Given the description of an element on the screen output the (x, y) to click on. 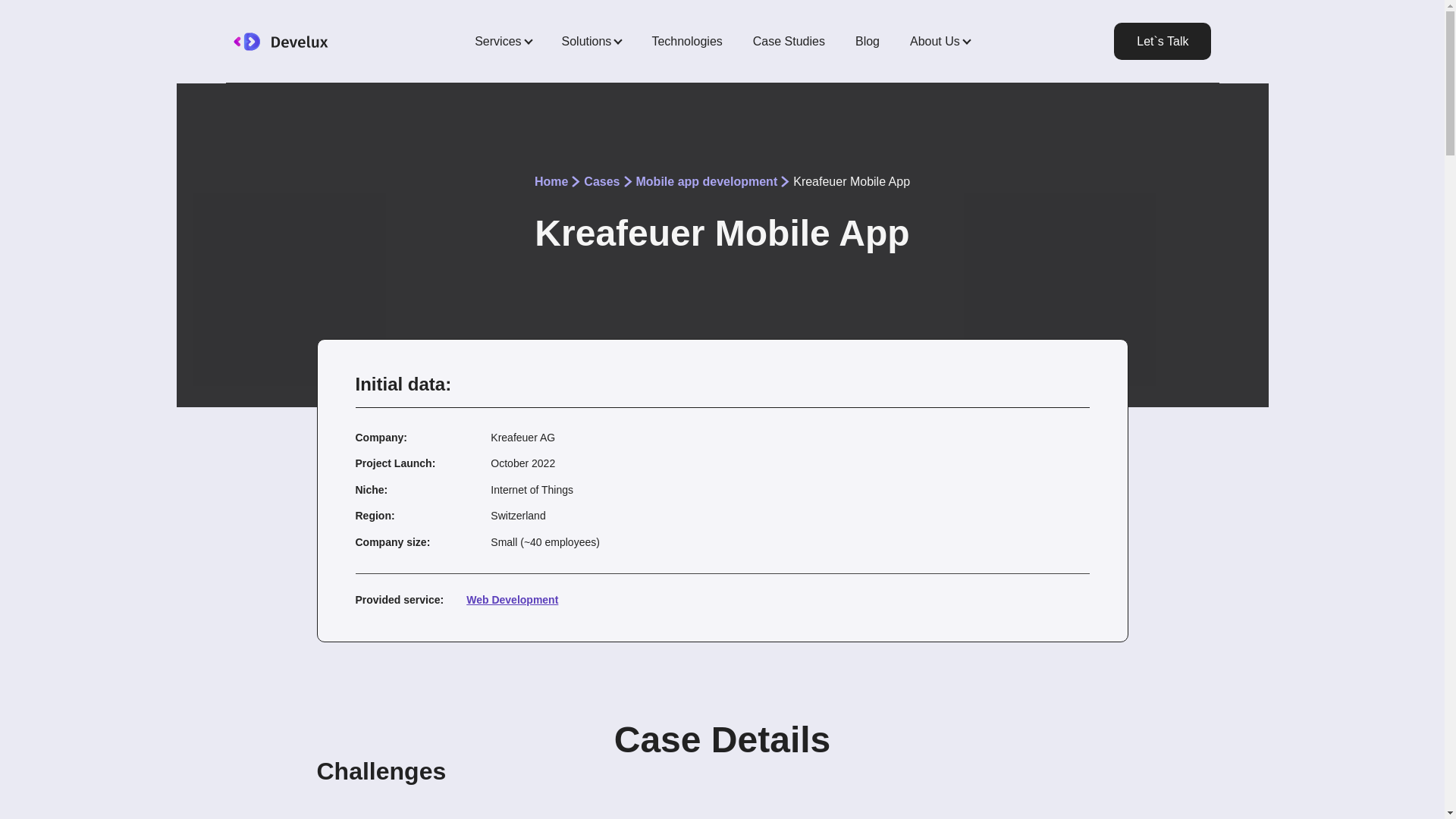
Solutions (592, 40)
Services (503, 40)
Develux Inc. (308, 40)
